Given the description of an element on the screen output the (x, y) to click on. 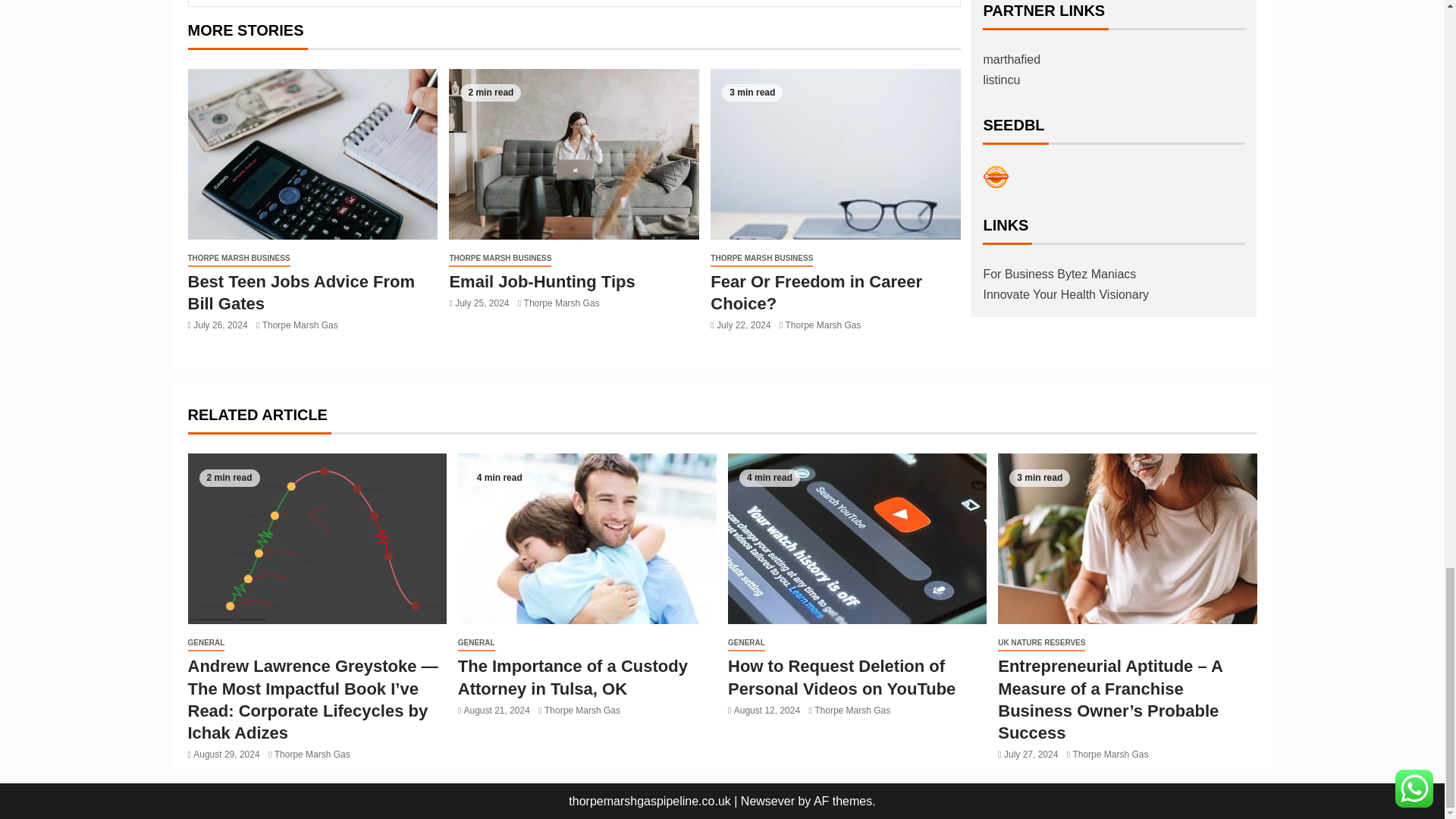
Best Teen Jobs Advice From Bill Gates (312, 153)
Email Job-Hunting Tips (573, 153)
Fear Or Freedom in Career Choice? (835, 153)
